Given the description of an element on the screen output the (x, y) to click on. 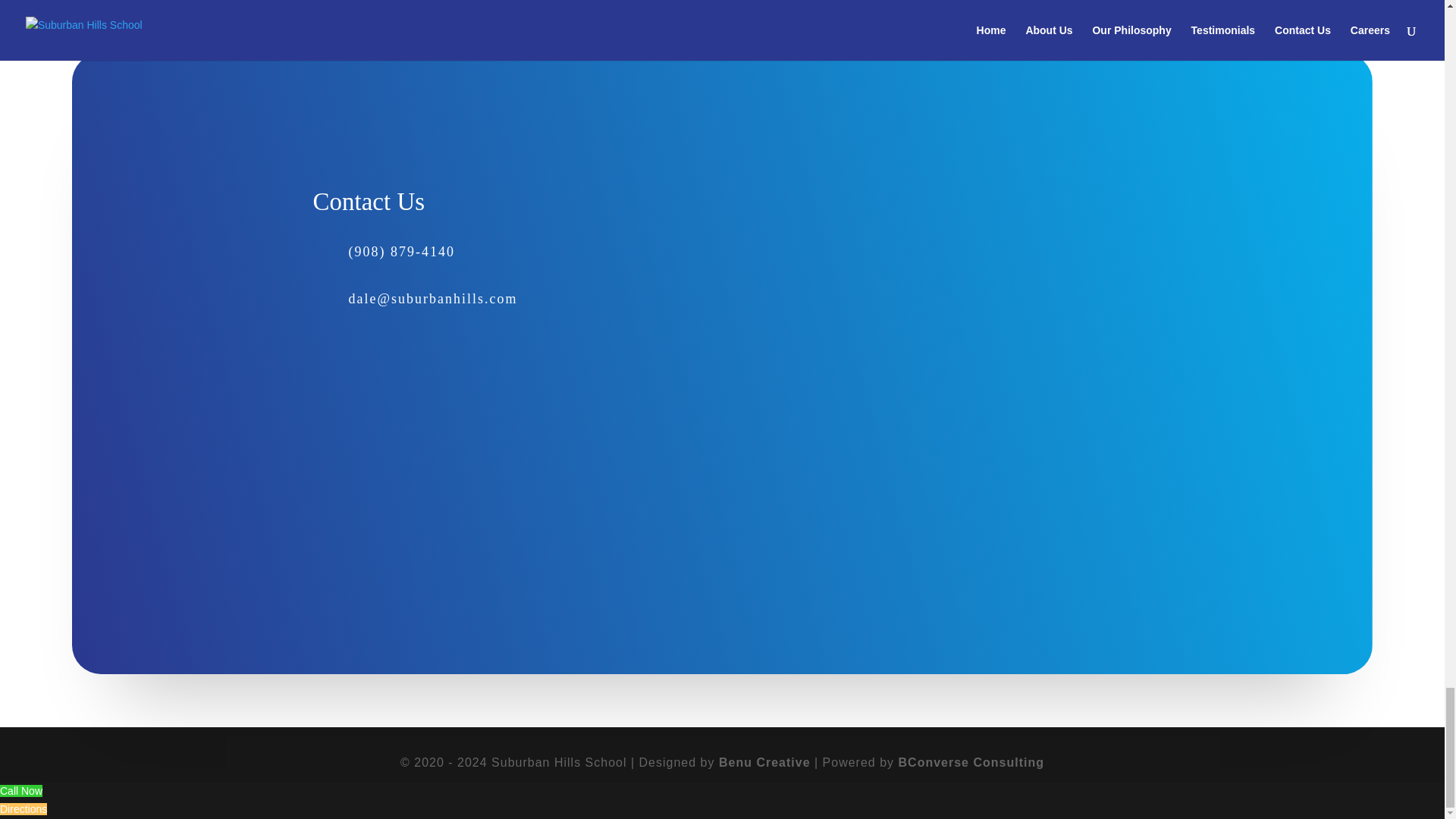
BConverse Consulting (970, 762)
Directions (23, 808)
Benu Creative (764, 762)
Call Now (21, 790)
